Given the description of an element on the screen output the (x, y) to click on. 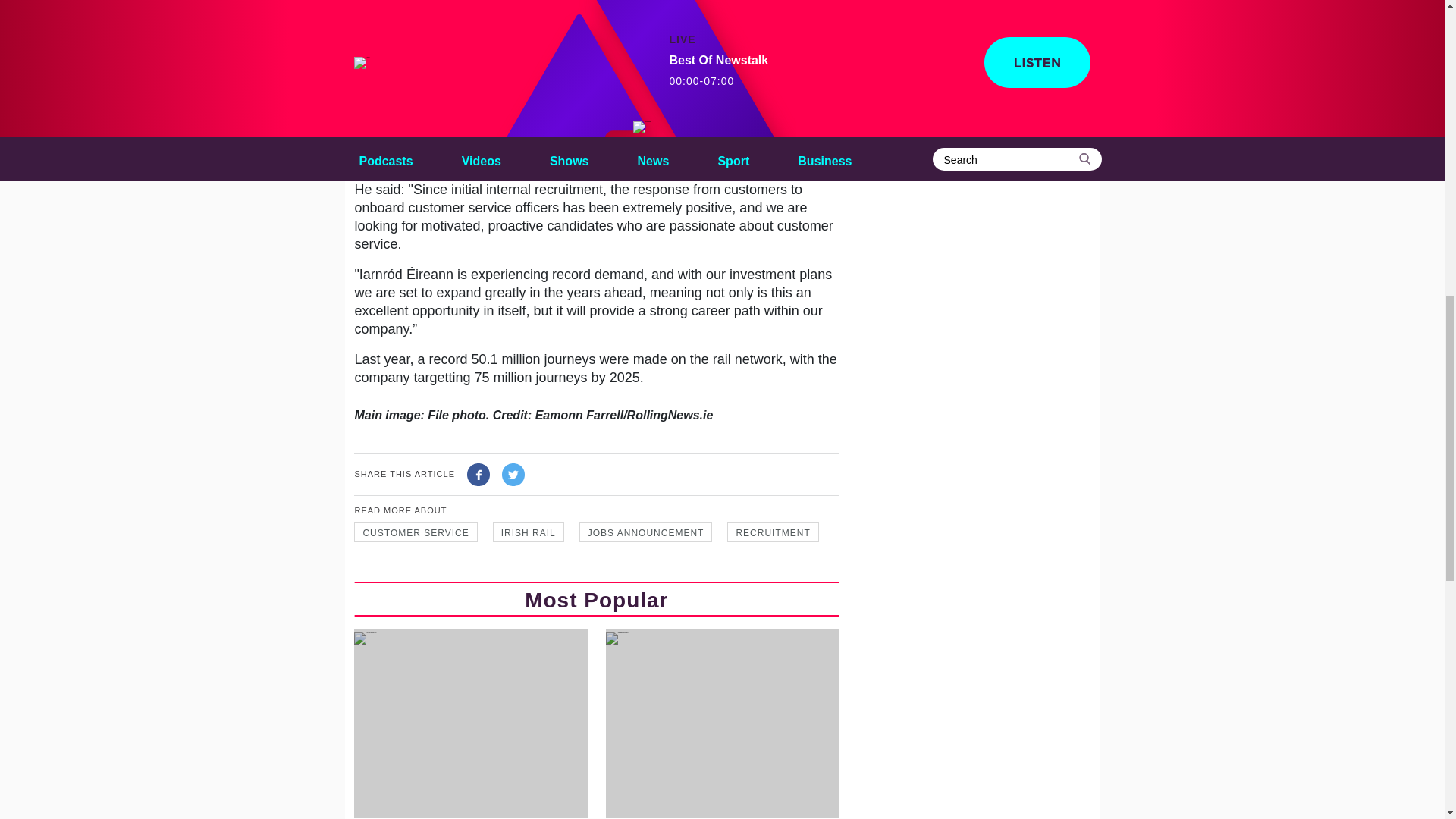
JOBS ANNOUNCEMENT (646, 532)
CUSTOMER SERVICE (415, 532)
IRISH RAIL (528, 532)
RECRUITMENT (772, 532)
